Given the description of an element on the screen output the (x, y) to click on. 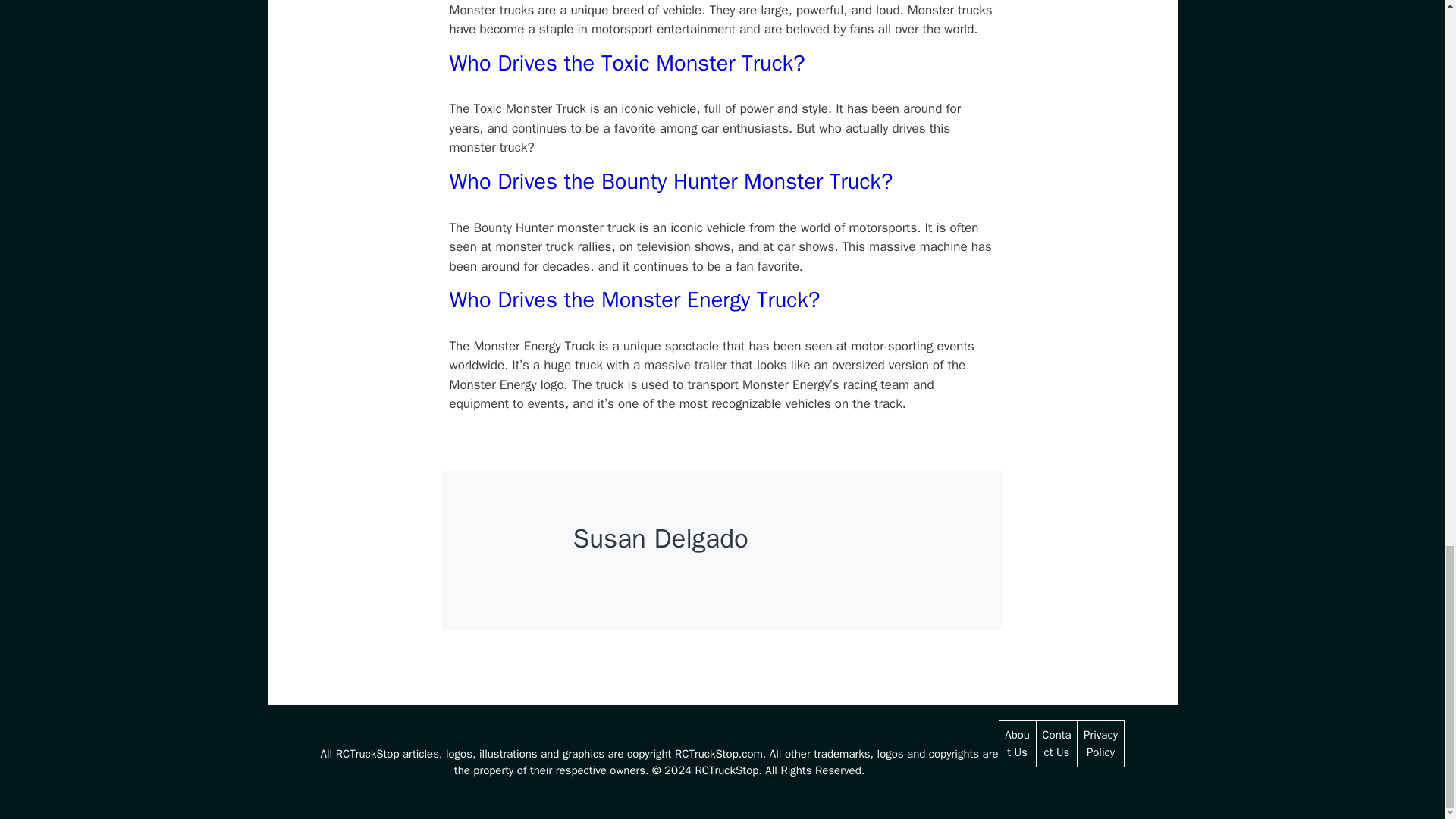
Who Drives the Bounty Hunter Monster Truck? (670, 181)
Who Drives the Monster Energy Truck? (633, 299)
Privacy Policy (1100, 743)
Who Drives the Toxic Monster Truck? (626, 62)
Contact Us (1056, 743)
